Given the description of an element on the screen output the (x, y) to click on. 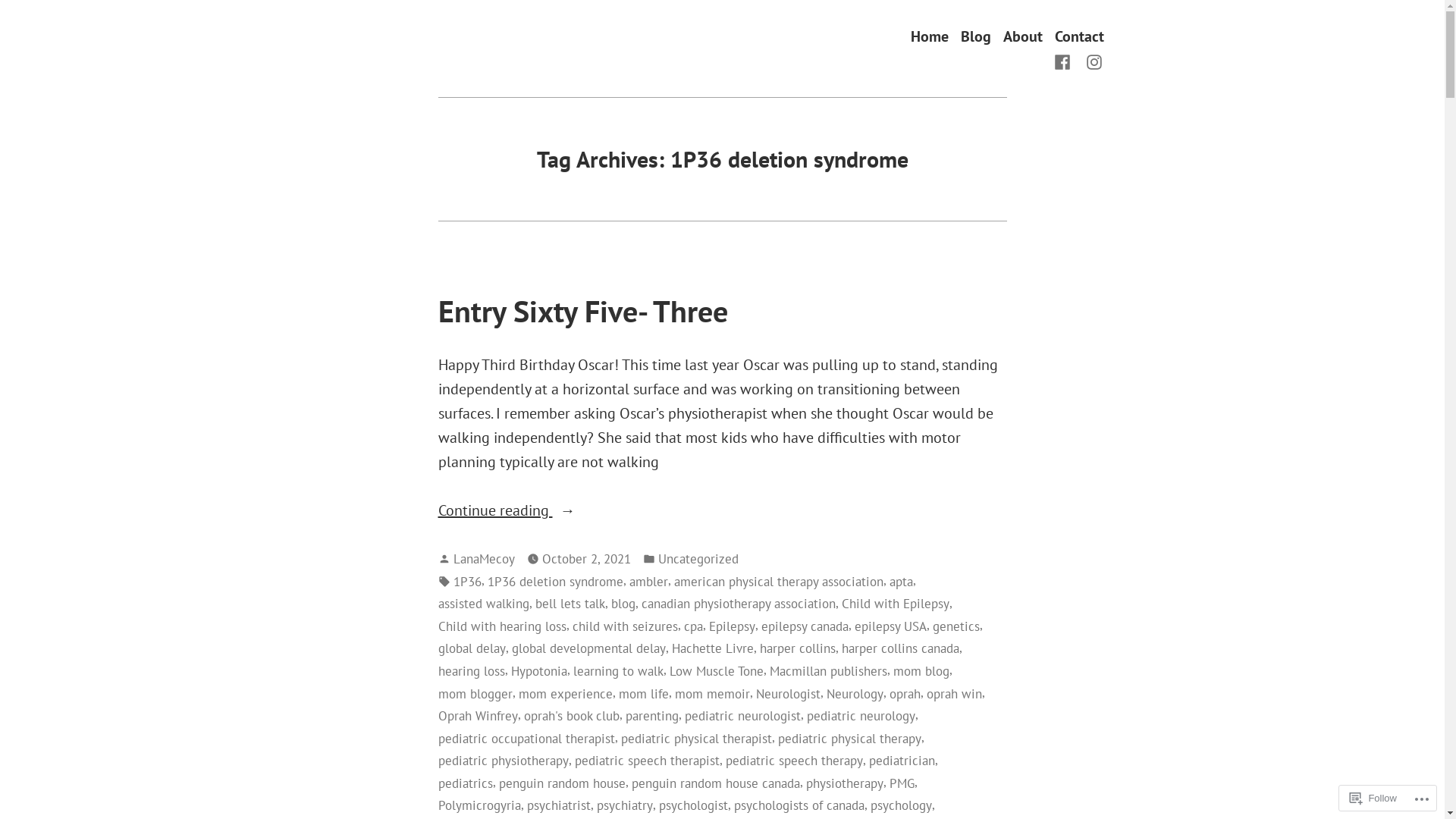
Home Element type: text (928, 35)
Follow Element type: text (1372, 797)
oprah Element type: text (903, 693)
pediatric speech therapy Element type: text (793, 760)
PMG Element type: text (900, 782)
harper collins canada Element type: text (900, 647)
Child with Epilepsy Element type: text (895, 603)
Contact Element type: text (1078, 35)
Hypotonia Element type: text (539, 670)
pediatrics Element type: text (465, 782)
american physical therapy association Element type: text (777, 581)
parenting Element type: text (650, 715)
genetics Element type: text (955, 626)
pediatric neurologist Element type: text (742, 715)
Low Muscle Tone Element type: text (715, 670)
Continue reading Element type: text (722, 510)
Polymicrogyria Element type: text (479, 804)
pediatric physical therapy Element type: text (849, 738)
pediatrician Element type: text (902, 760)
mom blog Element type: text (921, 670)
Entry Sixty Five- Three Element type: text (583, 310)
Oprah Winfrey Element type: text (477, 715)
psychiatrist Element type: text (557, 804)
canadian physiotherapy association Element type: text (738, 603)
Macmillan publishers Element type: text (827, 670)
mom memoir Element type: text (711, 693)
harper collins Element type: text (797, 647)
Hachette Livre Element type: text (712, 647)
epilepsy canada Element type: text (804, 626)
apta Element type: text (900, 581)
hearing loss Element type: text (471, 670)
mom life Element type: text (643, 693)
Uncategorized Element type: text (698, 558)
Epilepsy Element type: text (731, 626)
mom blogger Element type: text (475, 693)
Blog Element type: text (975, 35)
penguin random house Element type: text (561, 782)
assisted walking Element type: text (483, 603)
penguin random house canada Element type: text (714, 782)
1P36 deletion syndrome Element type: text (554, 581)
psychiatry Element type: text (624, 804)
oprah's book club Element type: text (570, 715)
global delay Element type: text (471, 647)
psychology Element type: text (900, 804)
ambler Element type: text (648, 581)
pediatric occupational therapist Element type: text (526, 738)
global developmental delay Element type: text (588, 647)
psychologists of canada Element type: text (799, 804)
pediatric neurology Element type: text (860, 715)
blog Element type: text (623, 603)
LanaMecoy Element type: text (483, 558)
Neurology Element type: text (854, 693)
learning to walk Element type: text (618, 670)
Child with hearing loss Element type: text (502, 626)
psychologist Element type: text (692, 804)
pediatric physiotherapy Element type: text (503, 760)
child with seizures Element type: text (624, 626)
bell lets talk Element type: text (570, 603)
1P36 Element type: text (467, 581)
oprah win Element type: text (954, 693)
cpa Element type: text (693, 626)
October 2, 2021 Element type: text (585, 558)
About Element type: text (1021, 35)
pediatric speech therapist Element type: text (646, 760)
pediatric physical therapist Element type: text (695, 738)
Neurologist Element type: text (787, 693)
mom experience Element type: text (565, 693)
physiotherapy Element type: text (843, 782)
epilepsy USA Element type: text (889, 626)
